Given the description of an element on the screen output the (x, y) to click on. 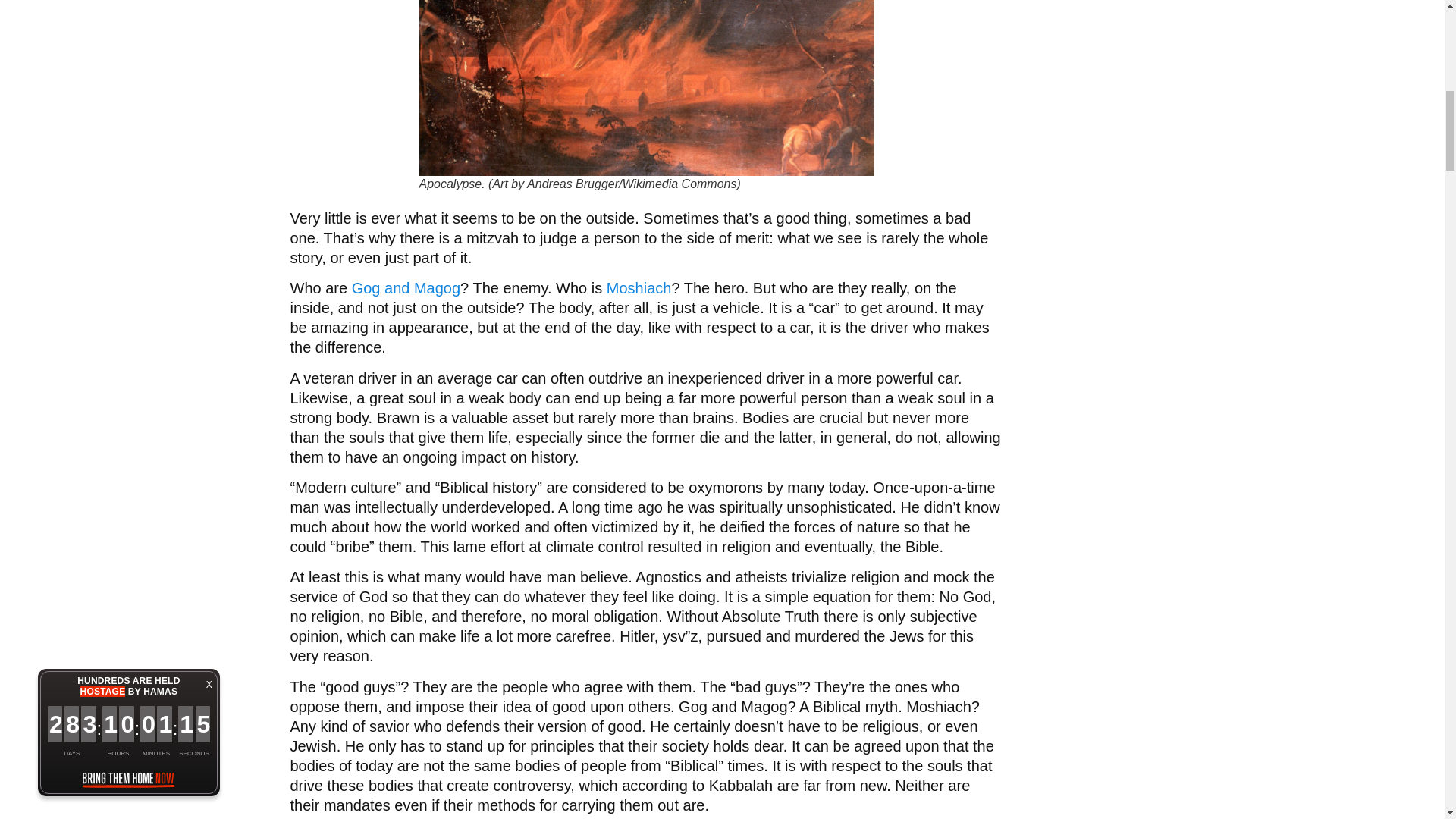
Gog and Magog (406, 288)
